Given the description of an element on the screen output the (x, y) to click on. 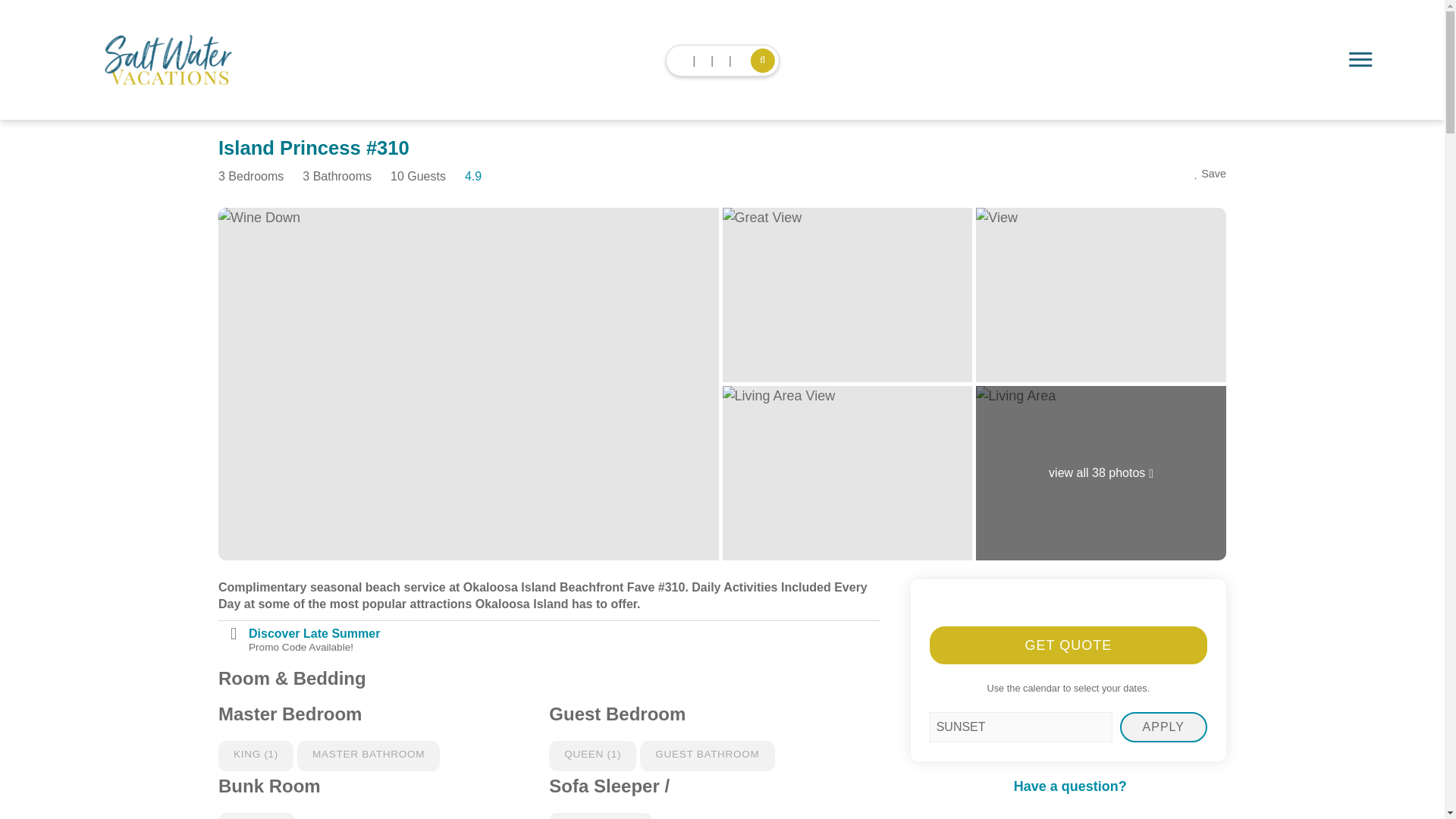
Apply (1163, 726)
Salt Water Vacations (167, 59)
SUNSET (1021, 726)
